Given the description of an element on the screen output the (x, y) to click on. 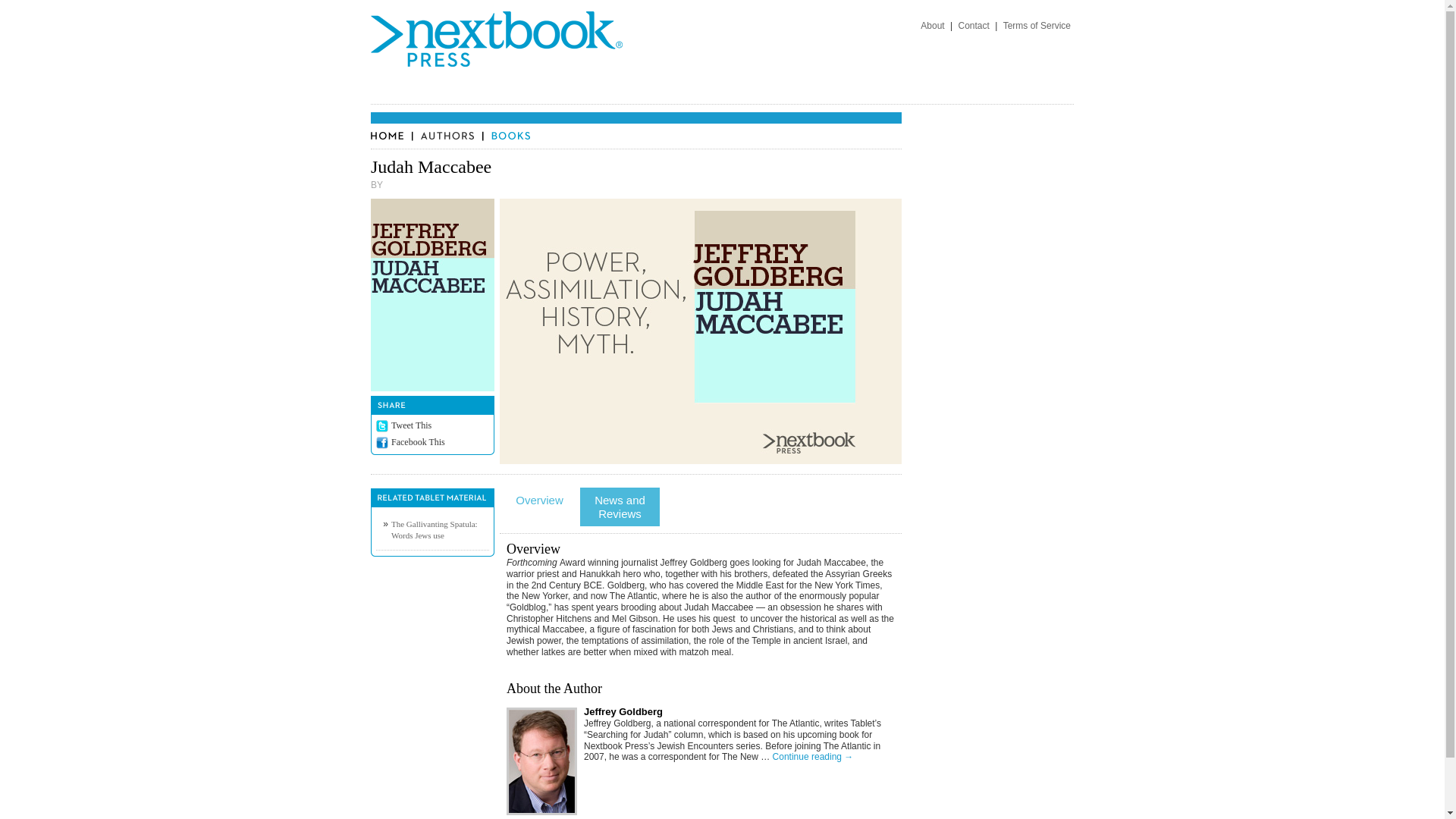
Tweet This (410, 425)
The Gallivanting Spatula: Words Jews use (434, 529)
Contact (973, 25)
Terms of Service (1037, 25)
About (932, 25)
Facebook This (418, 441)
